Given the description of an element on the screen output the (x, y) to click on. 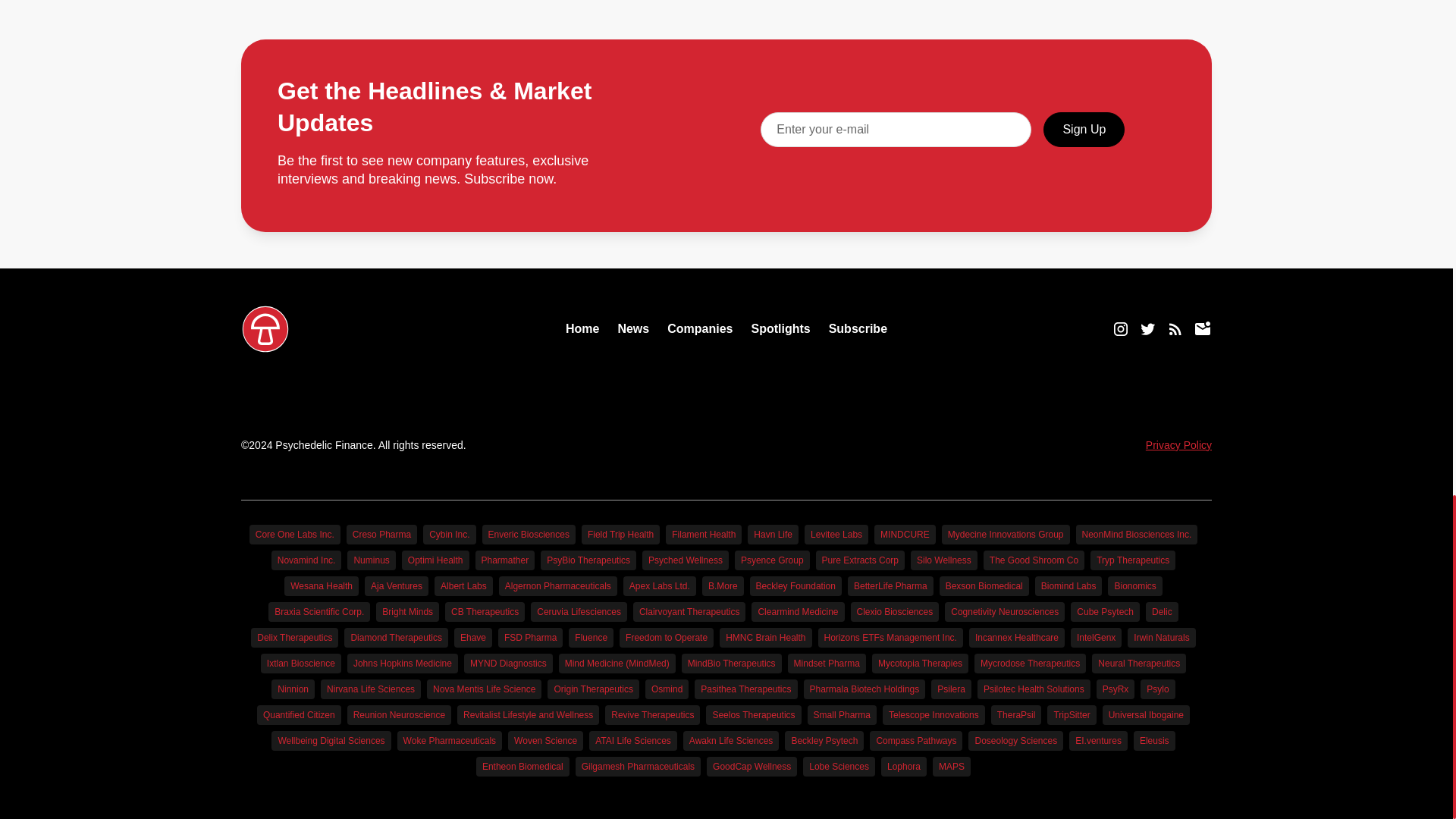
Email Us (1202, 329)
Core One Labs Inc. (294, 534)
NeonMind Biosciences Inc. (1136, 534)
Subscribe (857, 328)
Enveric Biosciences (528, 534)
Instagram (1120, 329)
Filament Health (703, 534)
Companies (699, 328)
Spotlights (780, 328)
Twitter (1147, 329)
RSS Feed (1175, 329)
MINDCURE (905, 534)
News (633, 328)
Cybin Inc. (449, 534)
Levitee Labs (836, 534)
